Given the description of an element on the screen output the (x, y) to click on. 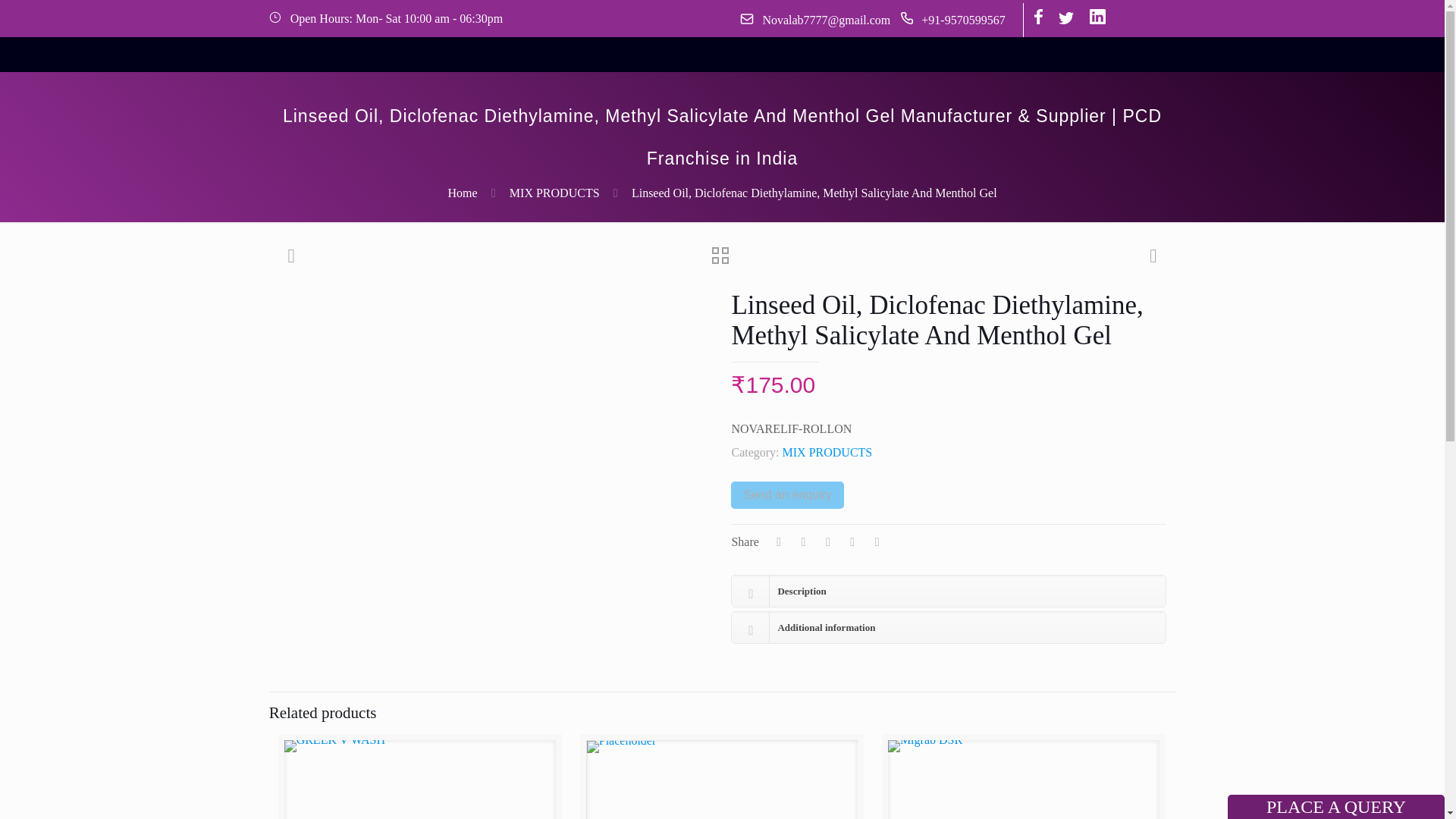
Home (461, 192)
MIX PRODUCTS (554, 192)
